Given the description of an element on the screen output the (x, y) to click on. 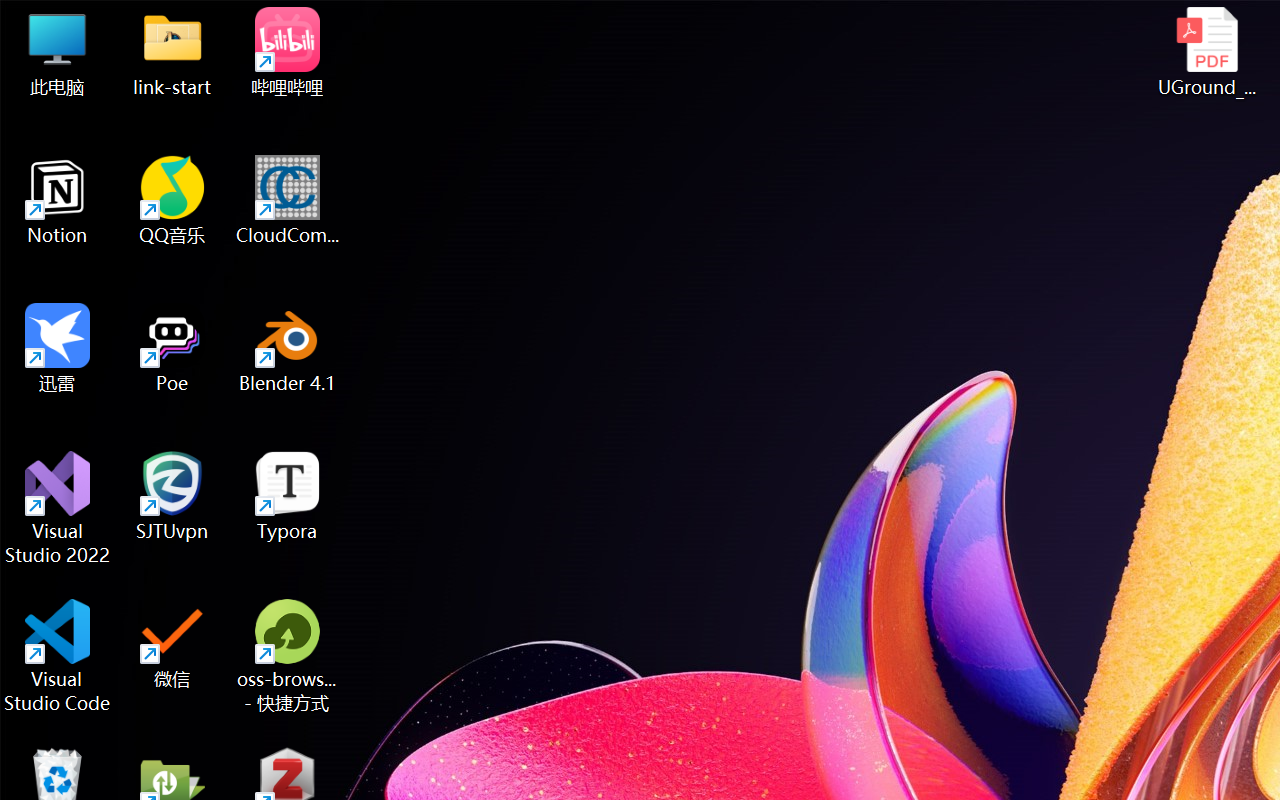
Visual Studio 2022 (57, 508)
UGround_paper.pdf (1206, 52)
Blender 4.1 (287, 348)
Typora (287, 496)
Visual Studio Code (57, 656)
CloudCompare (287, 200)
